Given the description of an element on the screen output the (x, y) to click on. 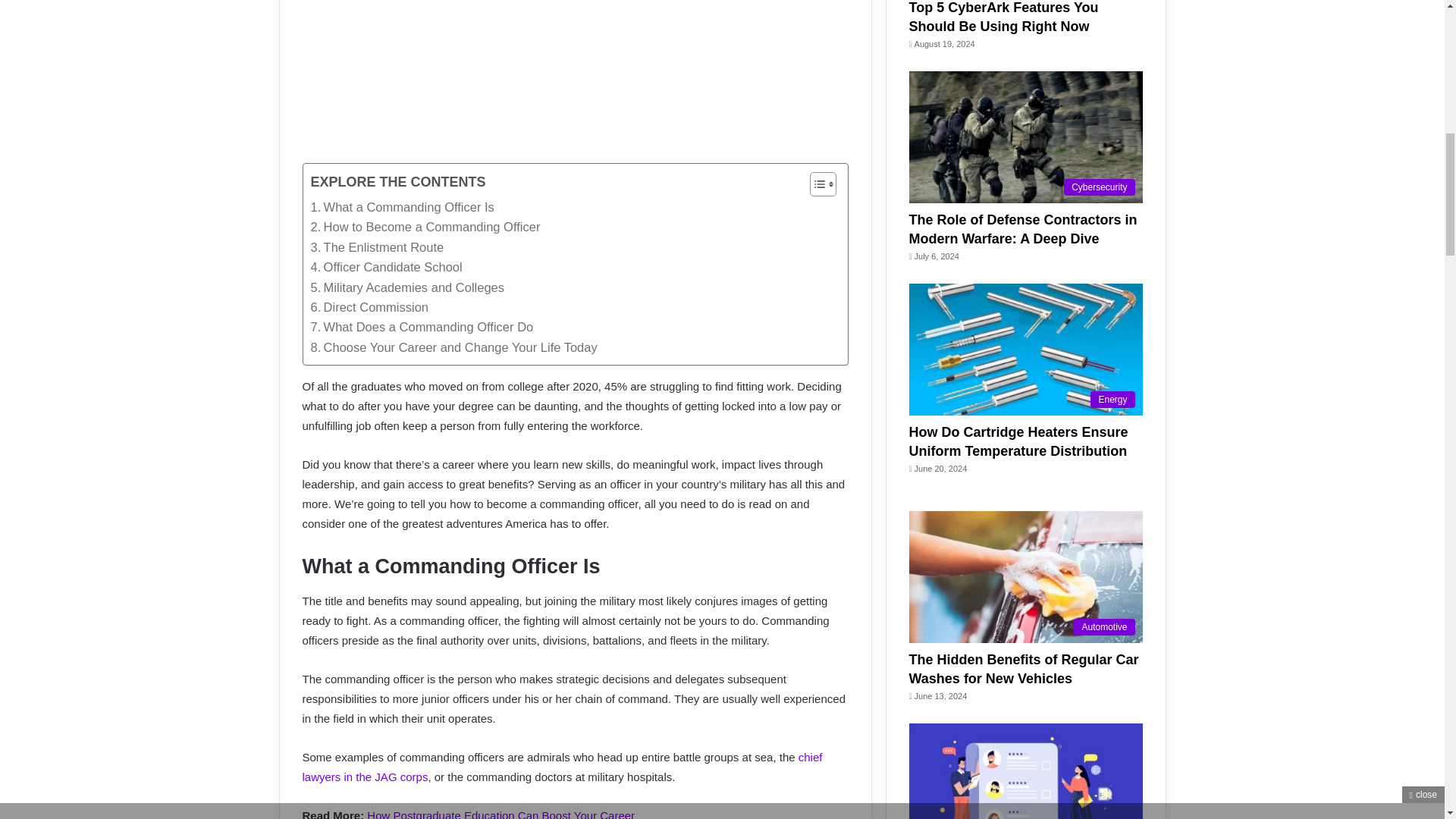
Advertisement (594, 81)
What a Commanding Officer Is (403, 207)
How to Become a Commanding Officer (425, 226)
